Given the description of an element on the screen output the (x, y) to click on. 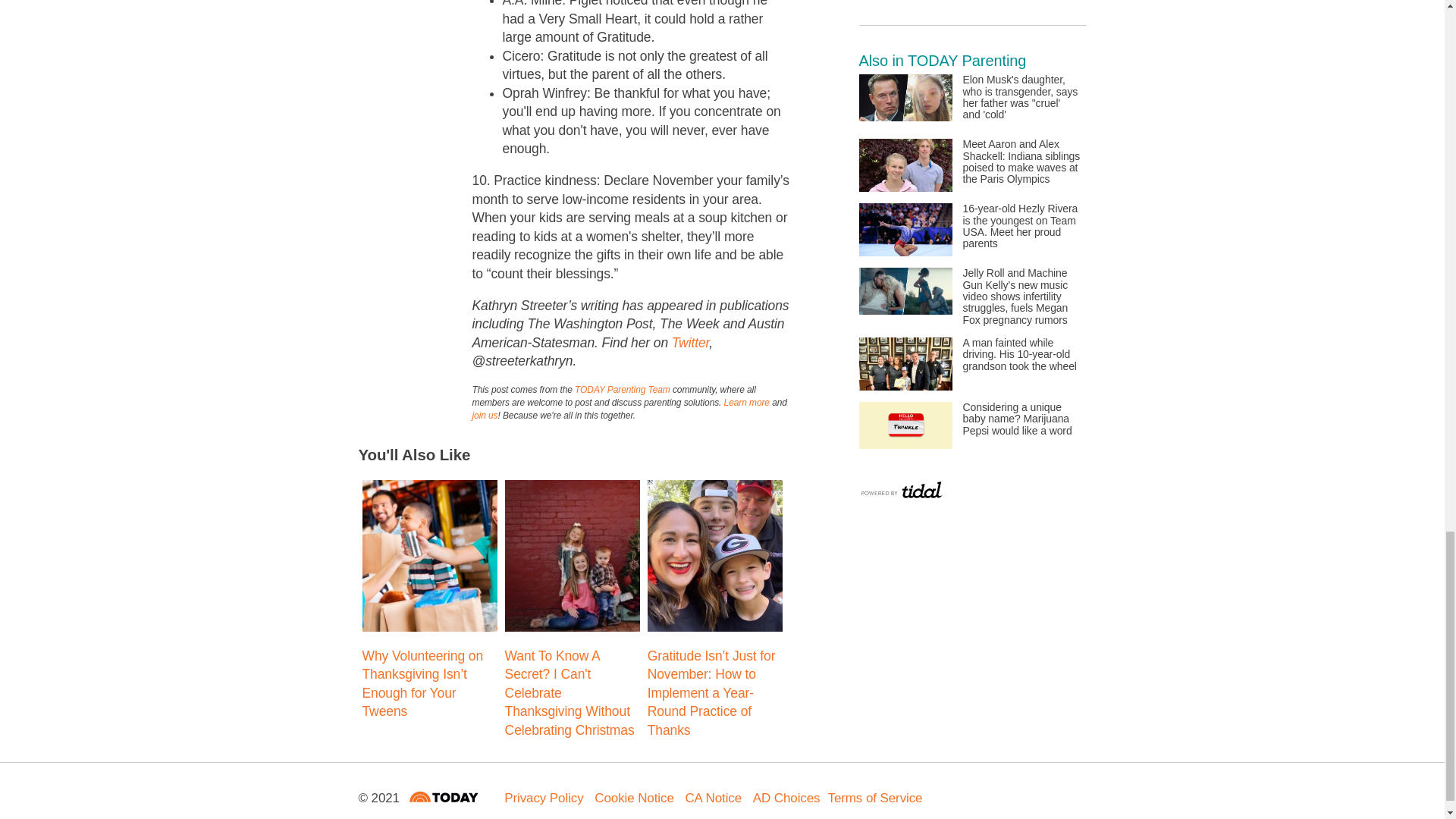
join us (484, 415)
TODAY Parenting Team (622, 389)
Twitter (690, 342)
Learn more (746, 402)
